Given the description of an element on the screen output the (x, y) to click on. 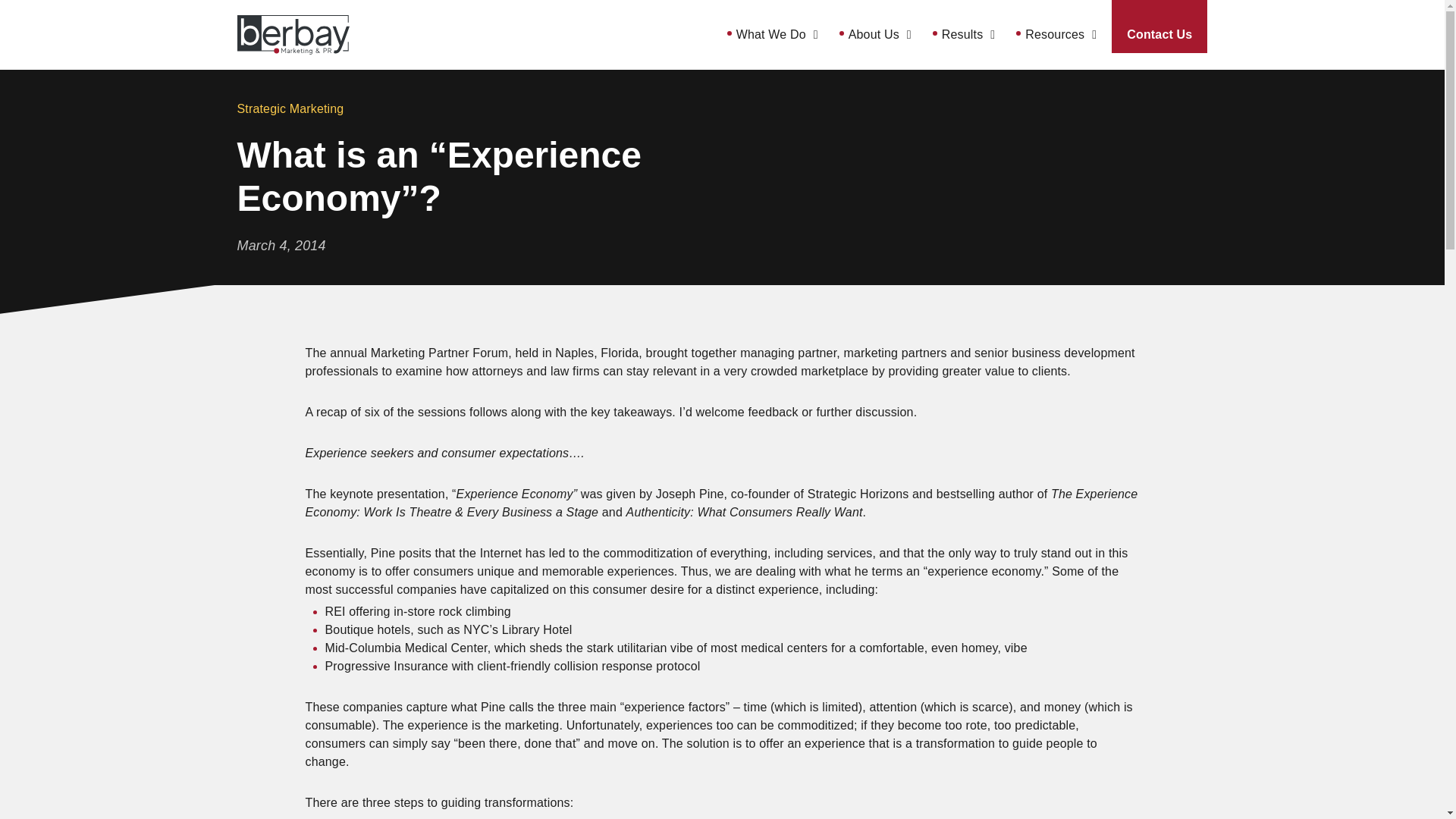
About Us (879, 34)
What We Do (776, 34)
